Given the description of an element on the screen output the (x, y) to click on. 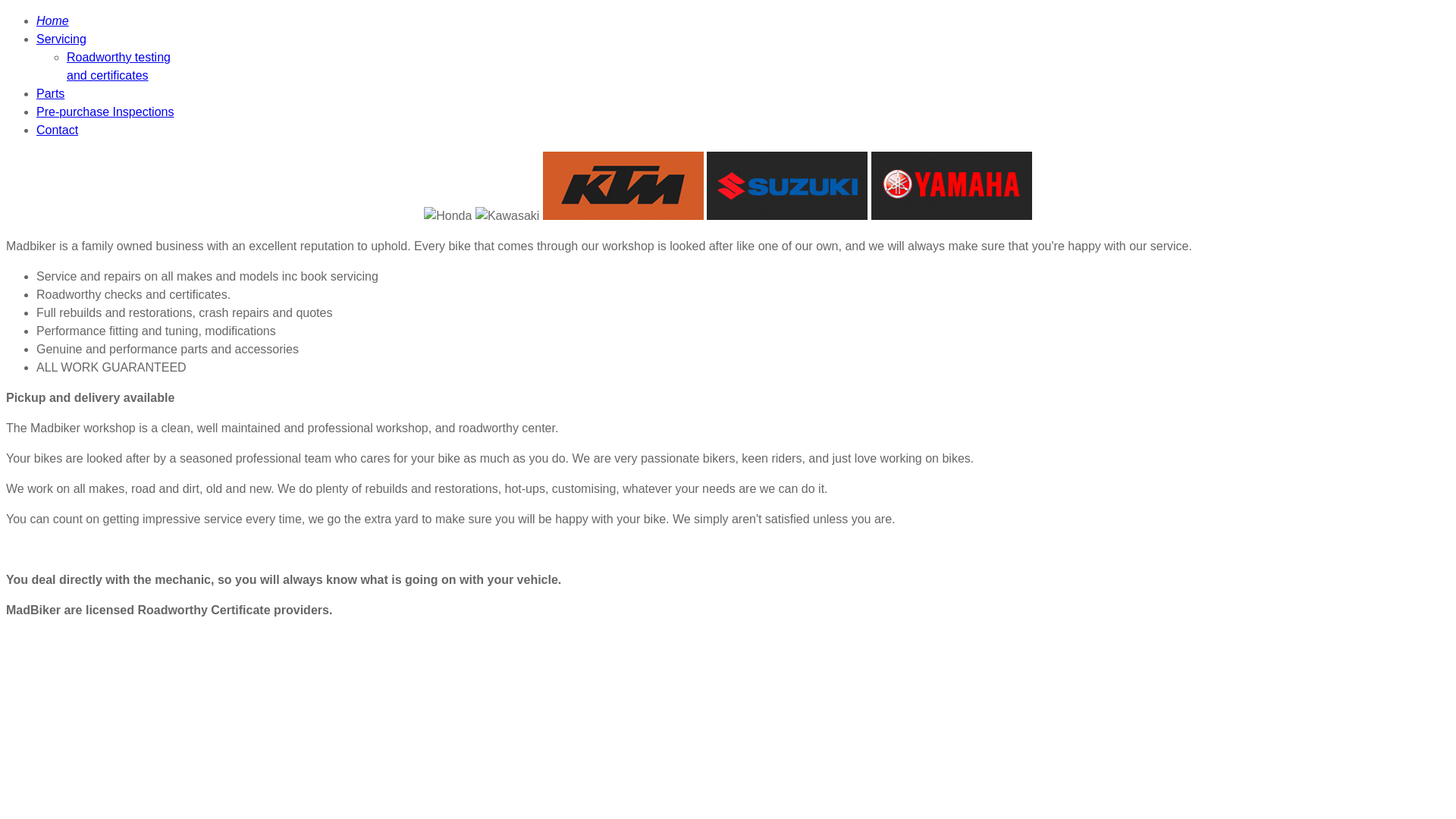
Home Element type: text (52, 20)
Roadworthy testing and certificates Element type: text (118, 65)
Pre-purchase Inspections Element type: text (104, 111)
Parts Element type: text (50, 93)
Contact Element type: text (57, 129)
Servicing Element type: text (61, 38)
